Given the description of an element on the screen output the (x, y) to click on. 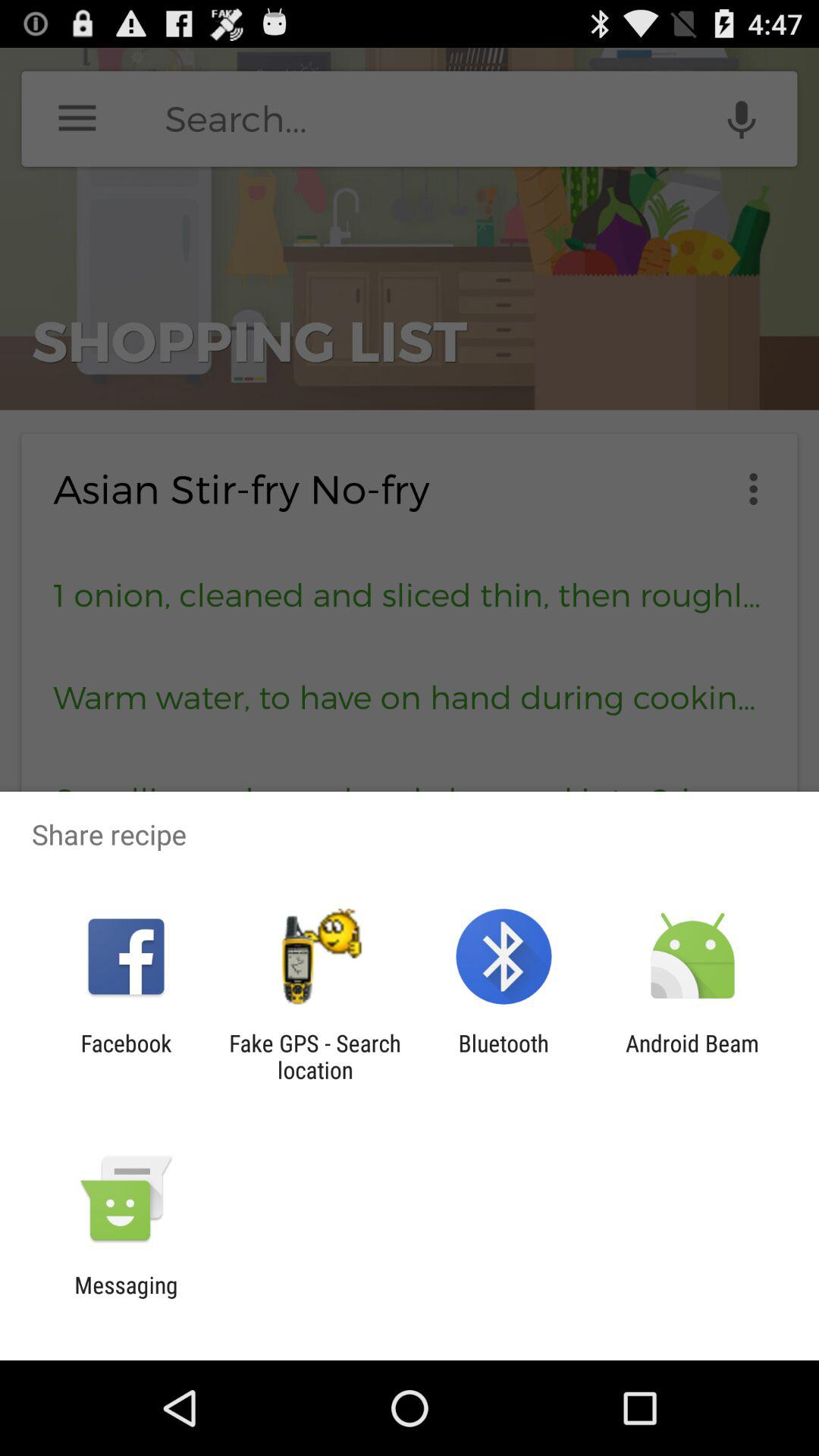
press item next to android beam (503, 1056)
